Given the description of an element on the screen output the (x, y) to click on. 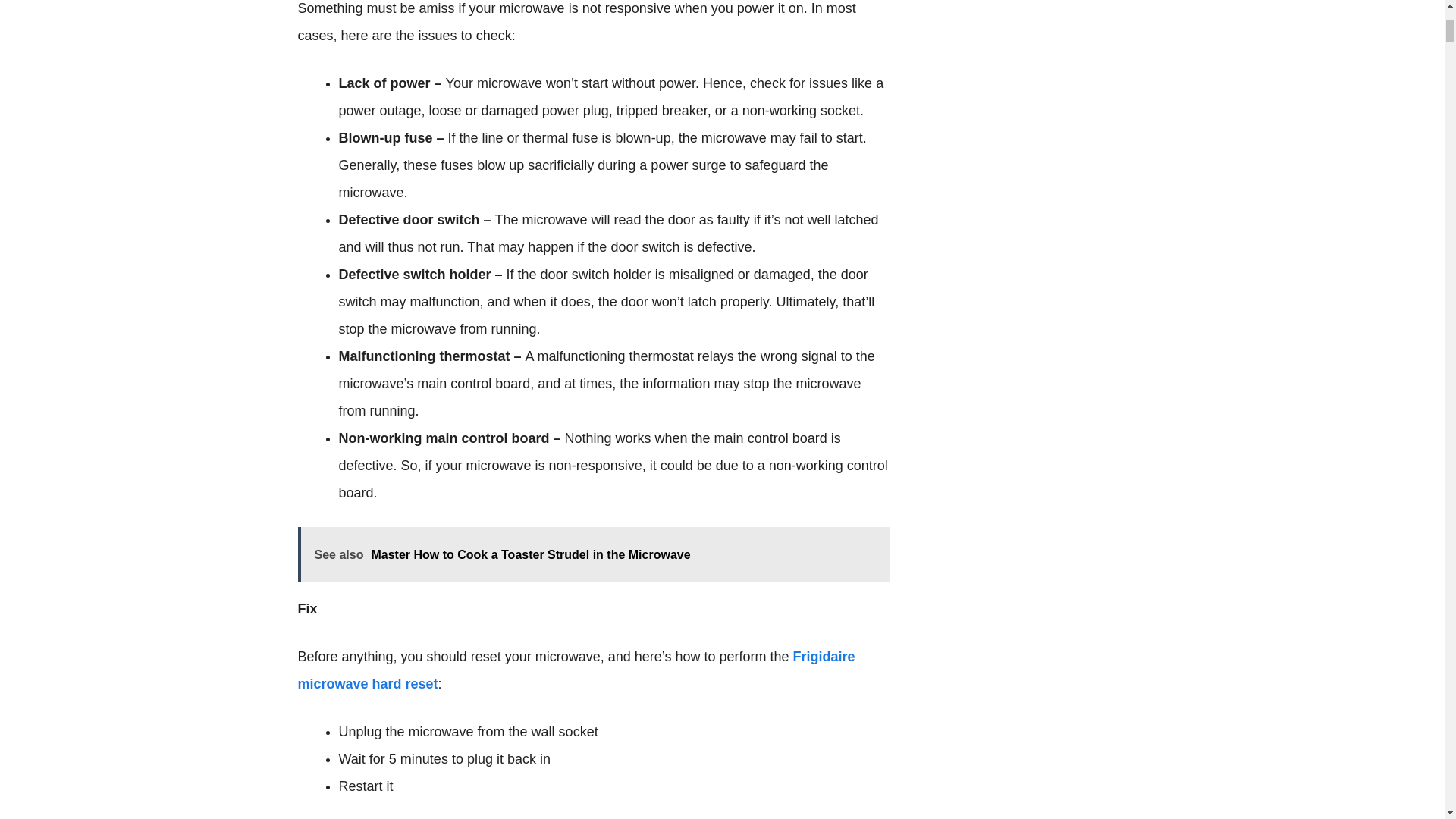
Frigidaire microwave hard reset (575, 670)
